Given the description of an element on the screen output the (x, y) to click on. 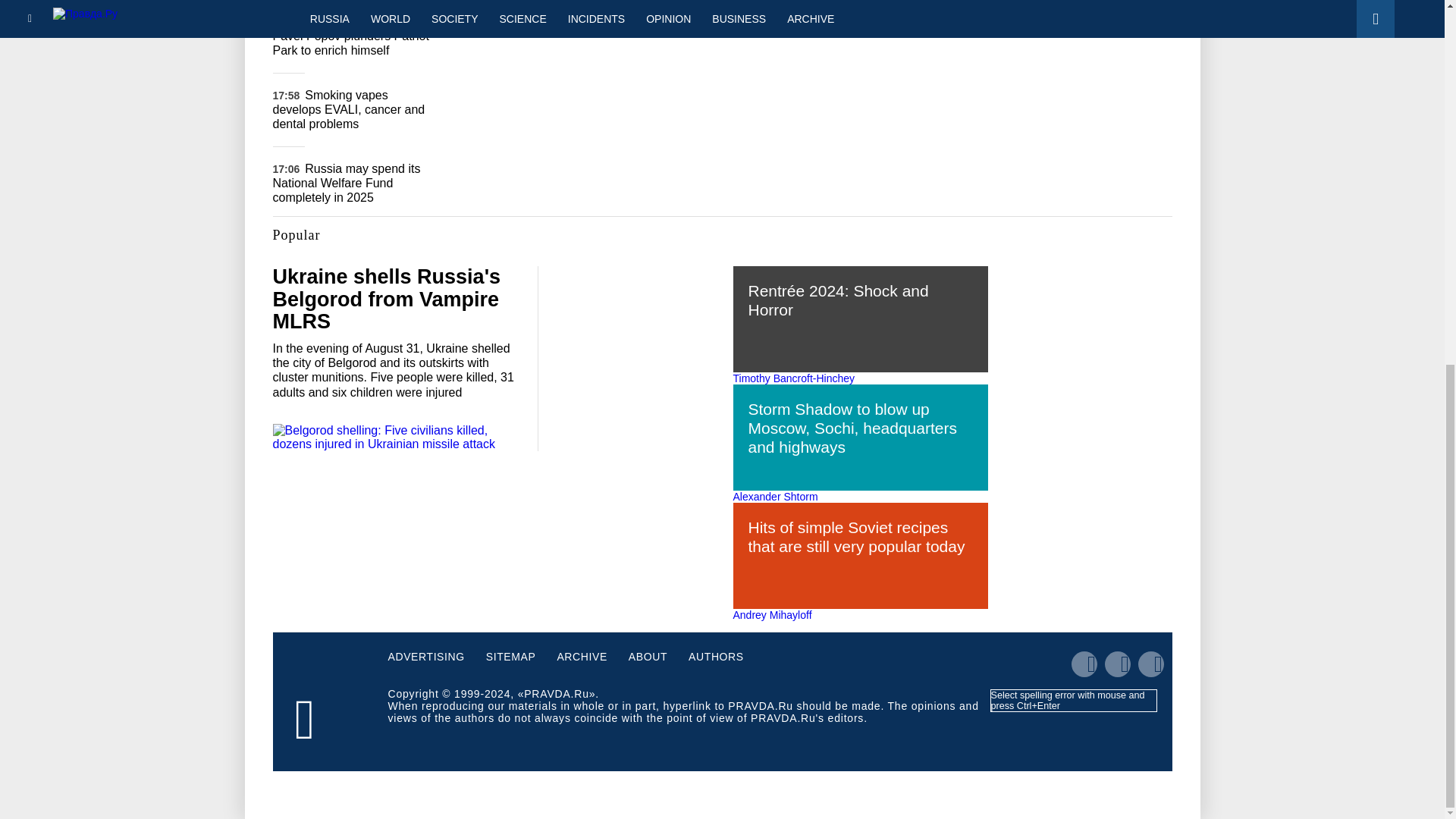
Smoking vapes develops EVALI, cancer and dental problems (349, 109)
Back to top (1418, 245)
Ukraine shells Russia's Belgorod from Vampire MLRS (386, 298)
